Given the description of an element on the screen output the (x, y) to click on. 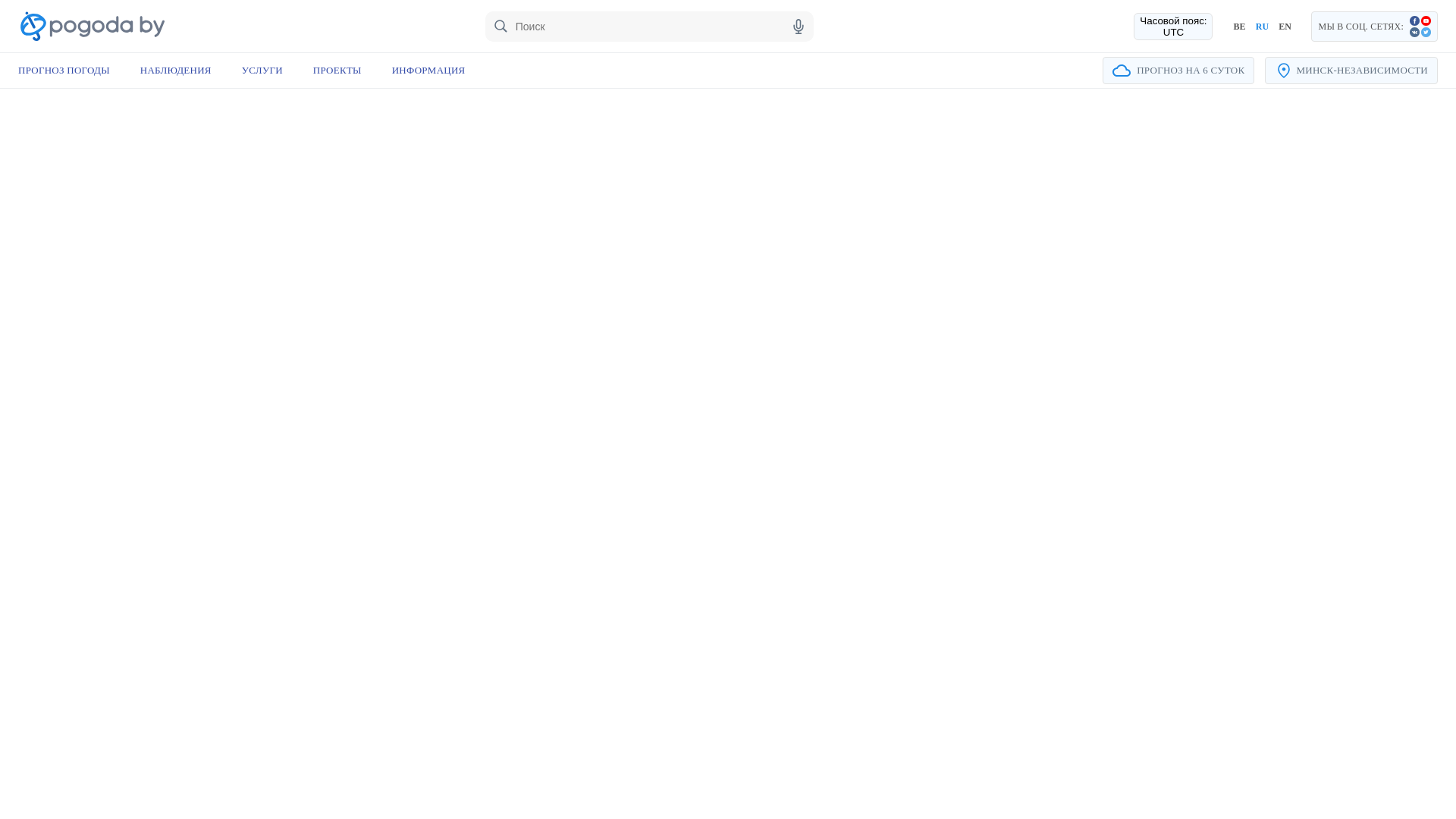
RU Element type: text (1261, 25)
EN Element type: text (1284, 25)
BE Element type: text (1238, 25)
